Given the description of an element on the screen output the (x, y) to click on. 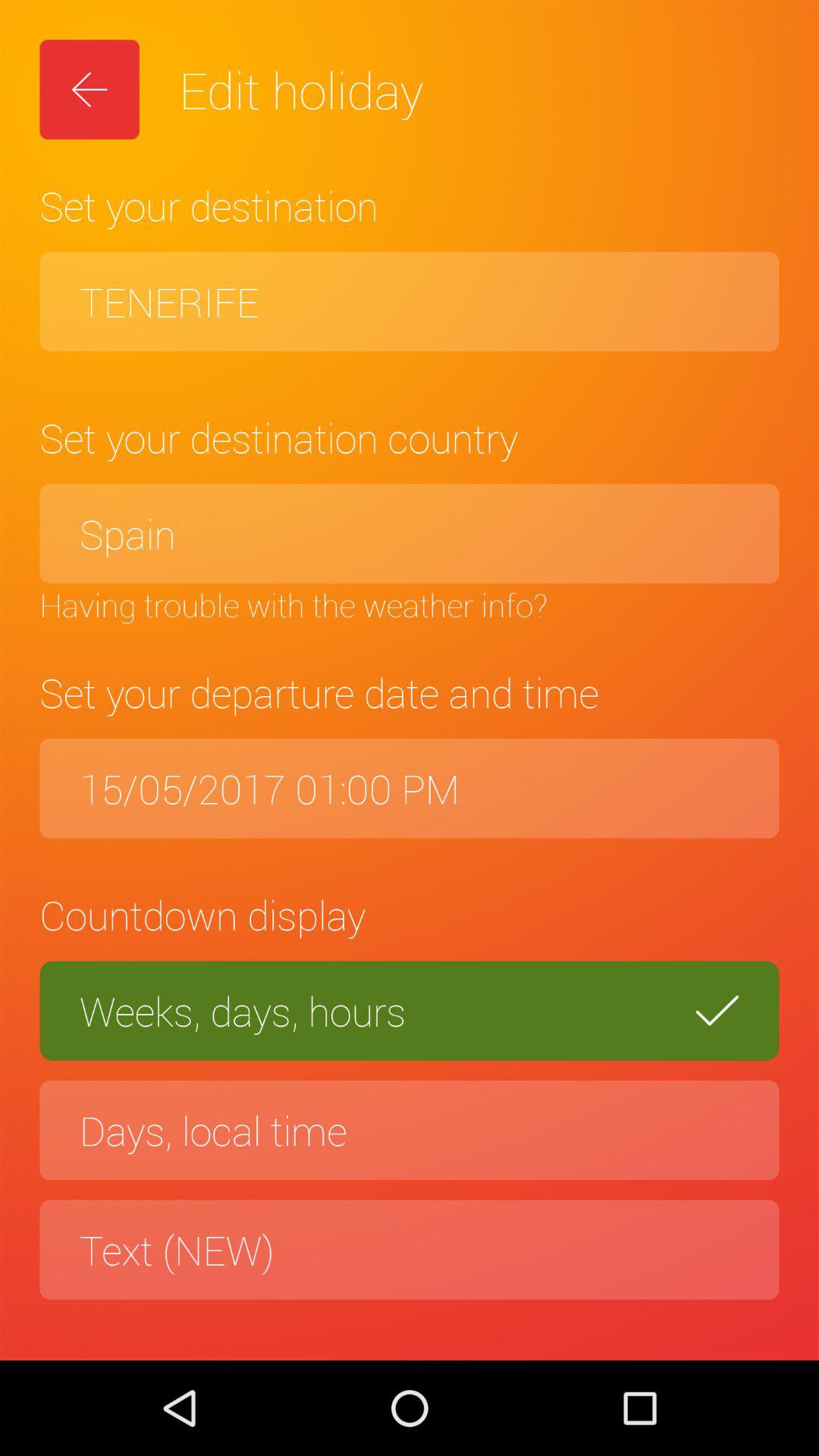
turn on the item above countdown display icon (409, 788)
